Given the description of an element on the screen output the (x, y) to click on. 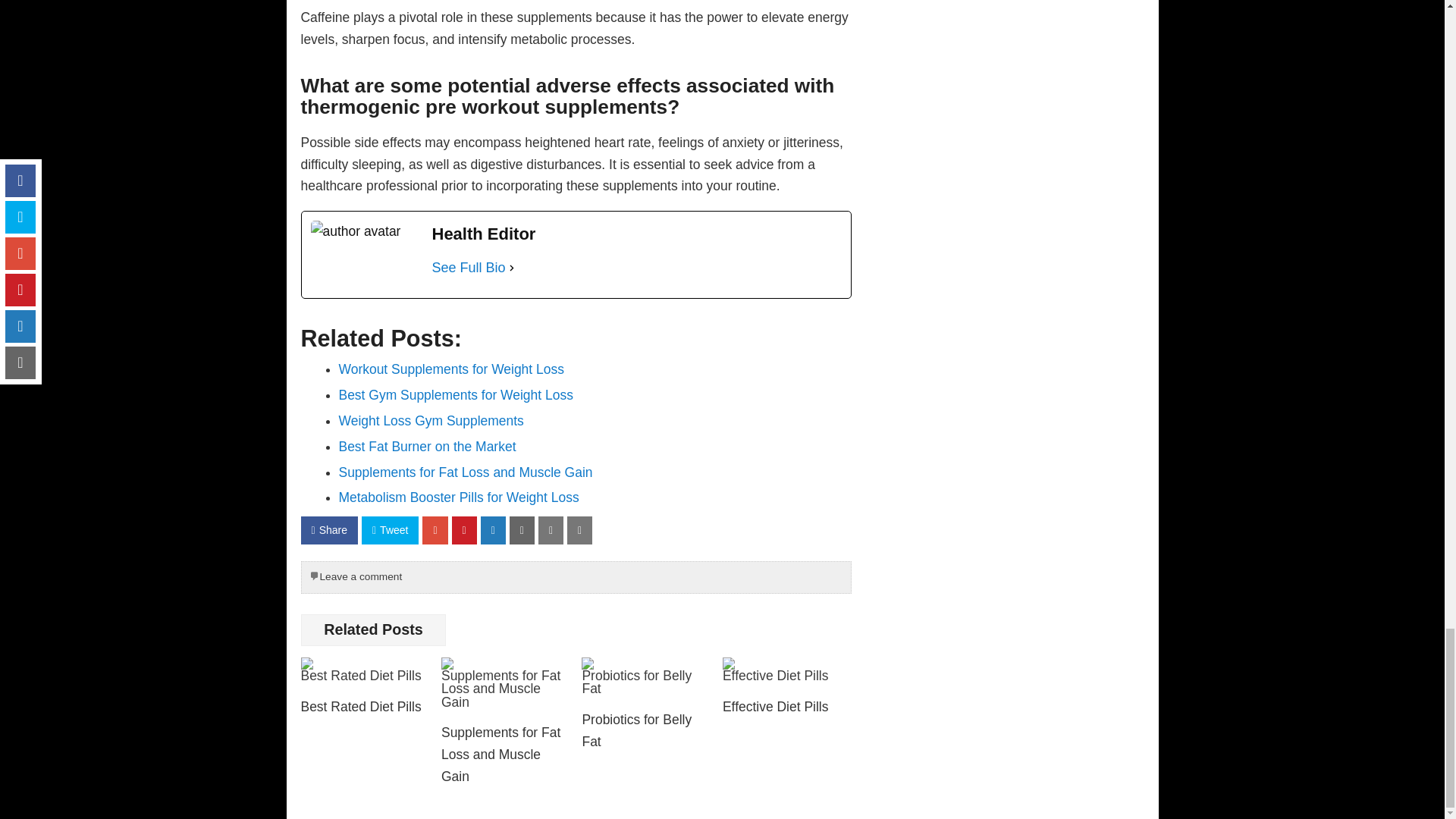
Share On Facebook (327, 530)
Send email this article (521, 530)
Share On Linkedin (492, 530)
Tweet on Twitter (390, 530)
Share On Google Plus (434, 530)
Pin On Pinterest (464, 530)
